Given the description of an element on the screen output the (x, y) to click on. 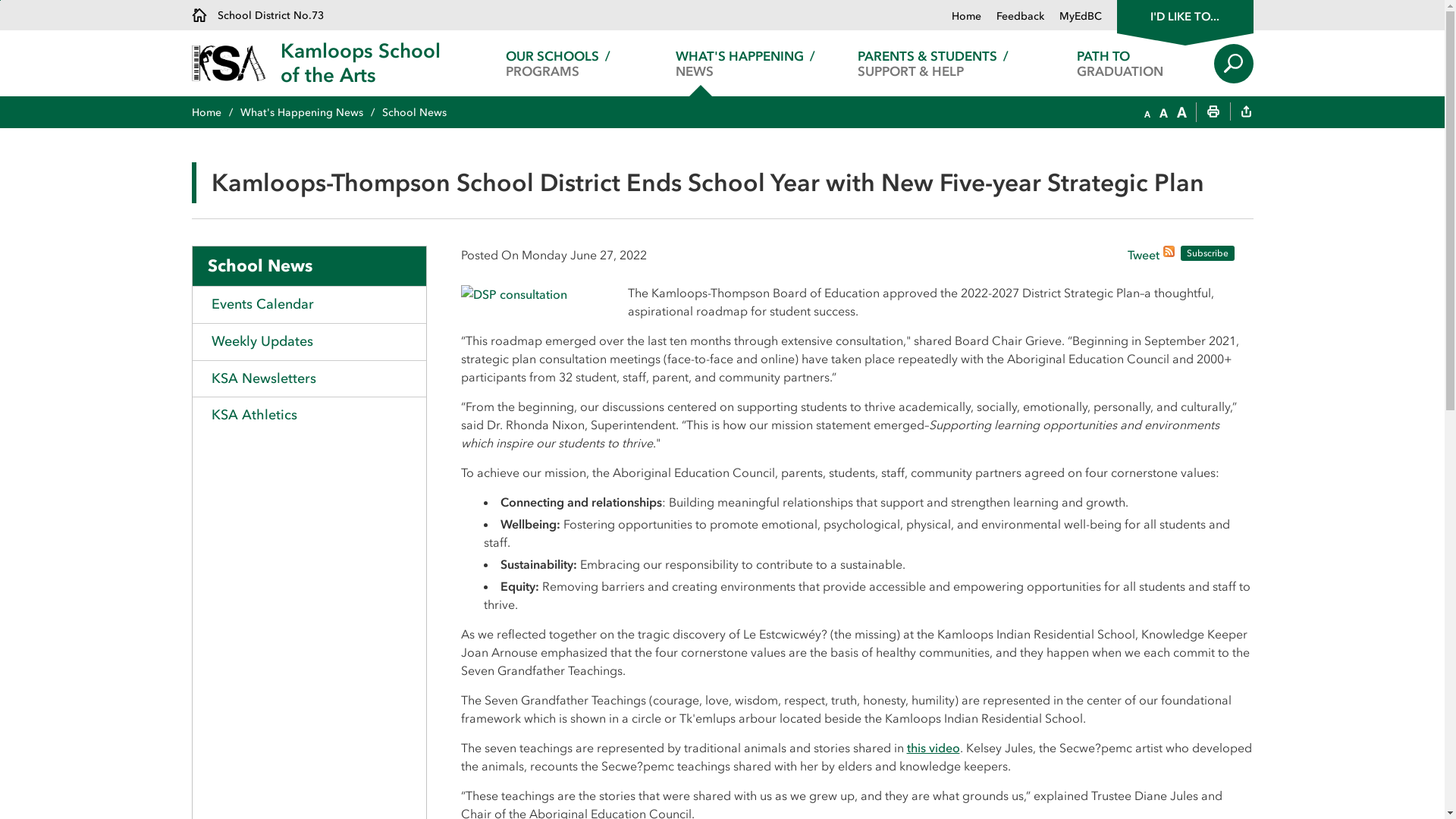
PARENTS & STUDENTS
SUPPORT & HELP Element type: text (932, 63)
Weekly Updates Element type: text (309, 341)
PATH TO
GRADUATION Element type: text (1120, 63)
Click to return to the homepage Element type: hover (235, 63)
Print This Page Element type: hover (1212, 112)
  Element type: text (1245, 112)
OUR SCHOOLS
PROGRAMS Element type: text (557, 63)
Feedback Element type: text (1012, 15)
Events Calendar Element type: text (309, 304)
I'D LIKE TO... Element type: text (1184, 15)
Subscribe Element type: text (1206, 252)
Decrease text size Element type: hover (1146, 112)
School News Element type: text (309, 265)
Increase text size Element type: hover (1181, 112)
Home Element type: text (215, 112)
KSA Newsletters Element type: text (309, 378)
Skip to Content Element type: text (0, 0)
School District No.73 Element type: text (257, 15)
this video Element type: text (933, 747)
Default text size Element type: hover (1162, 112)
Tweet Element type: text (1142, 256)
DSP consultation Element type: hover (514, 292)
Search Element type: text (1232, 63)
WHAT'S HAPPENING
NEWS Element type: text (745, 63)
What's Happening News Element type: text (310, 112)
KSA Athletics Element type: text (309, 414)
facebook like button Element type: hover (1087, 253)
Kamloops School
of the Arts Element type: text (360, 63)
MyEdBC Element type: text (1072, 15)
Home Element type: text (965, 15)
